Given the description of an element on the screen output the (x, y) to click on. 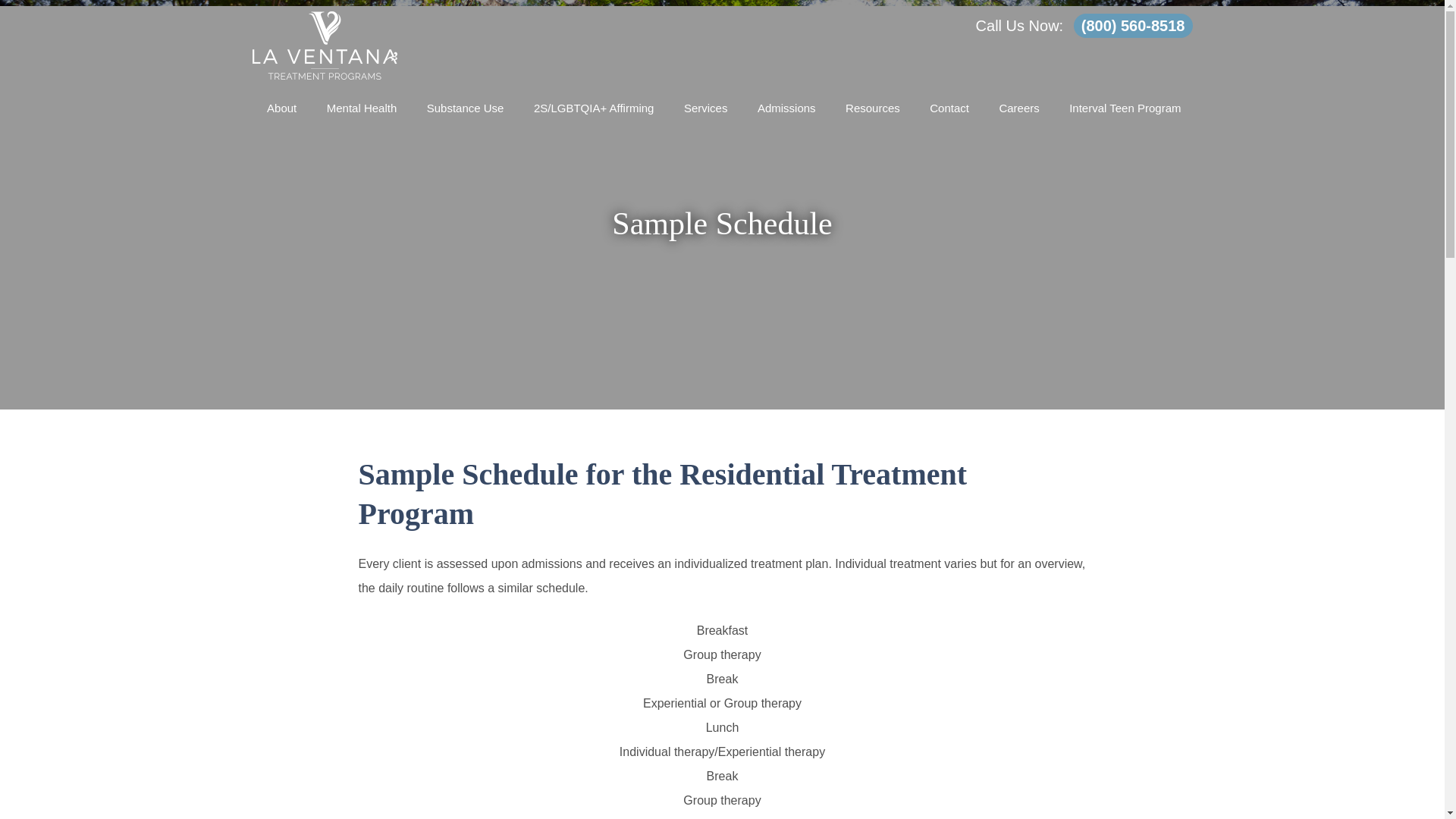
logo (323, 45)
